Given the description of an element on the screen output the (x, y) to click on. 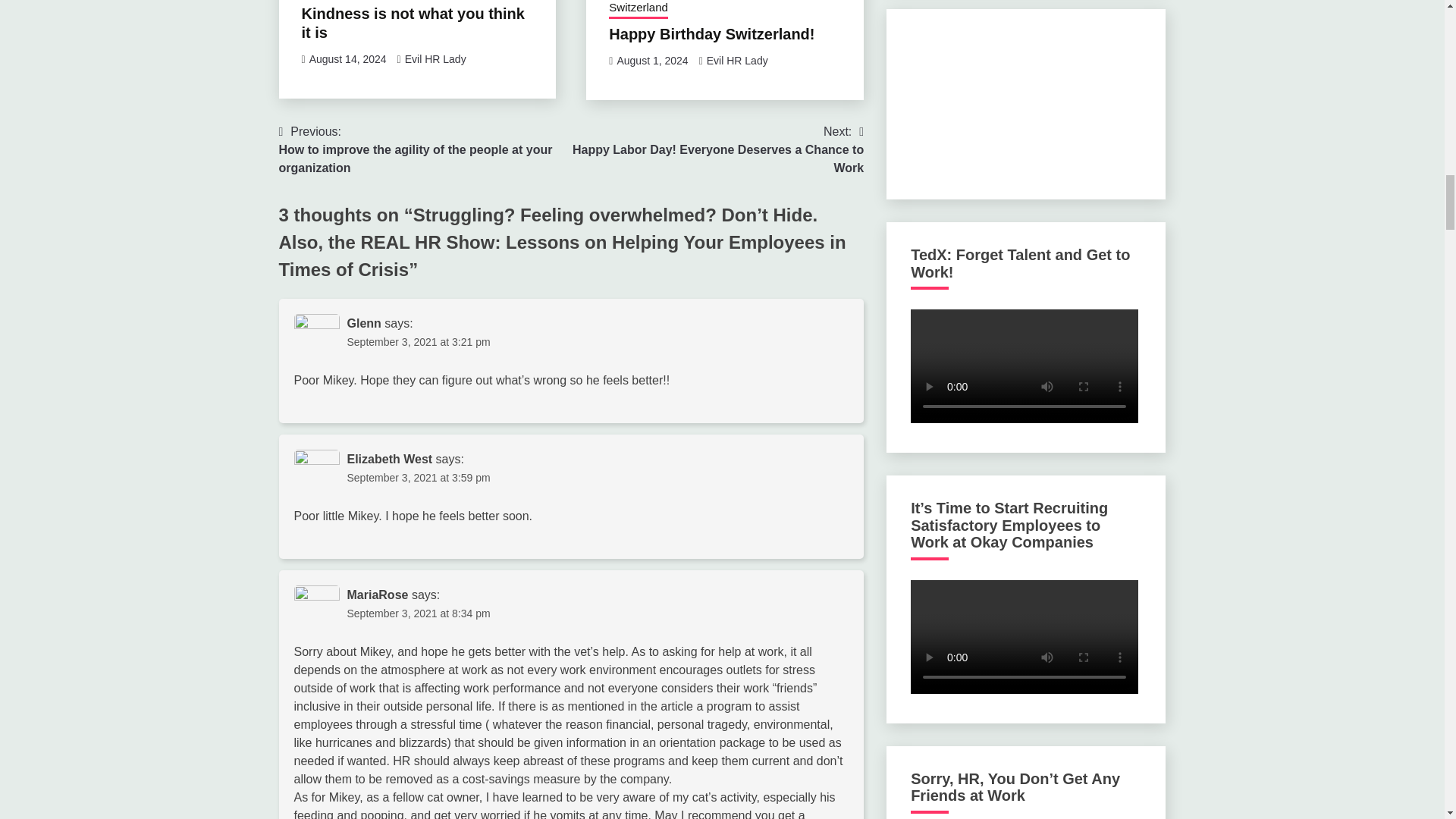
August 14, 2024 (347, 59)
Switzerland (638, 9)
August 1, 2024 (651, 60)
September 3, 2021 at 3:21 pm (418, 341)
Evil HR Lady (737, 60)
Happy Birthday Switzerland! (710, 33)
Kindness is not what you think it is (412, 22)
Evil HR Lady (434, 59)
September 3, 2021 at 8:34 pm (418, 613)
